Given the description of an element on the screen output the (x, y) to click on. 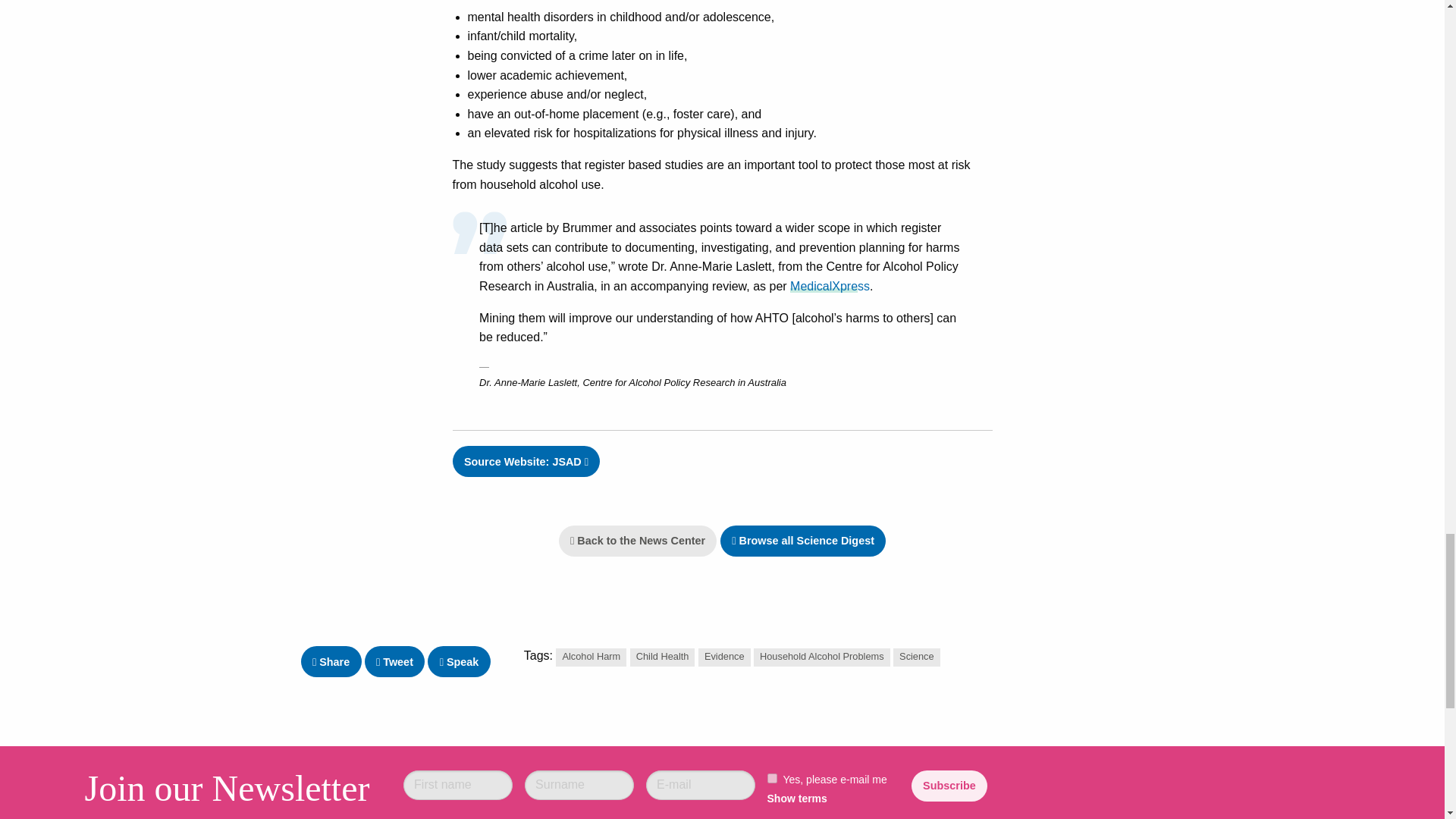
Y (772, 777)
Subscribe (949, 785)
